Given the description of an element on the screen output the (x, y) to click on. 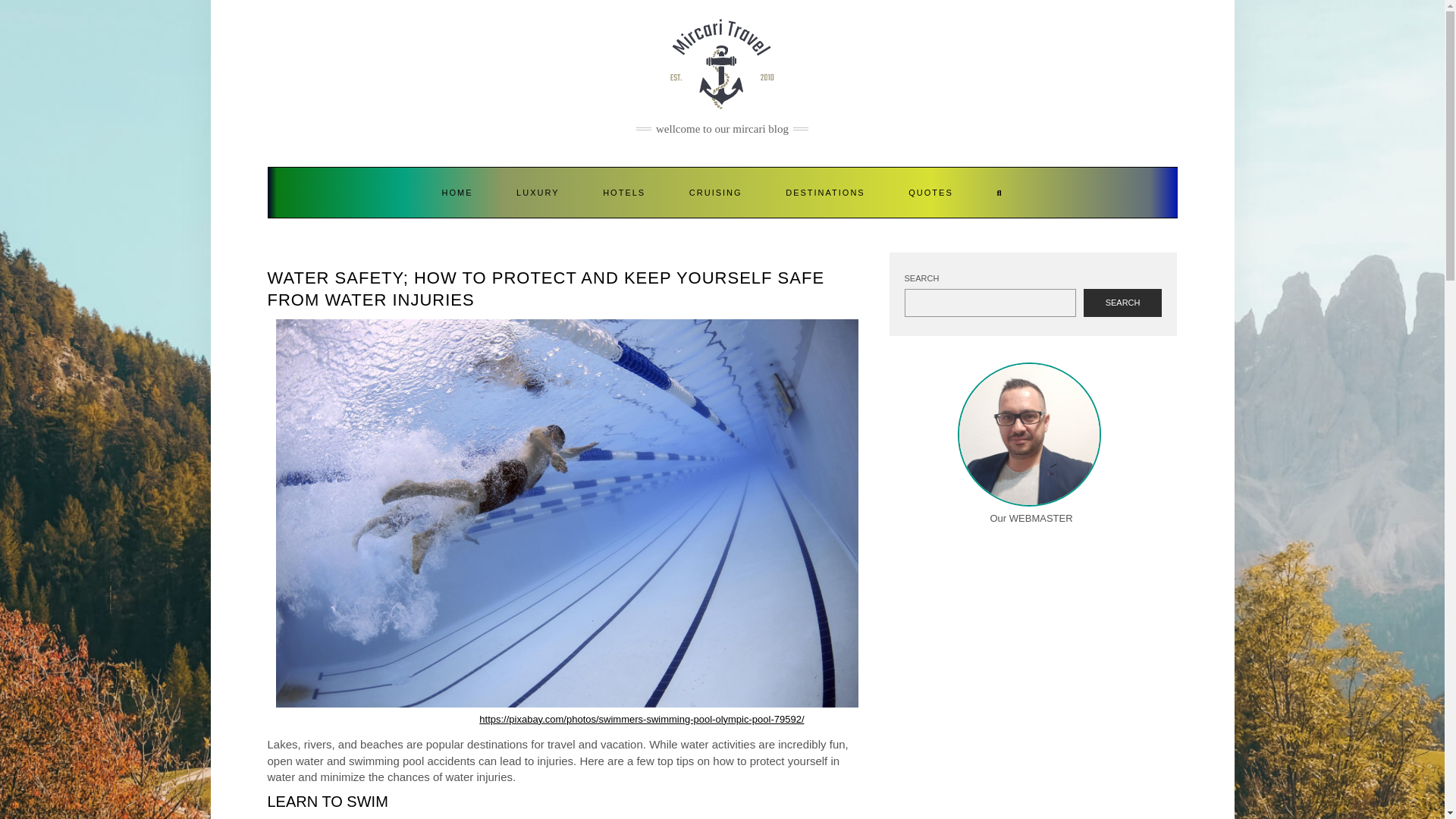
DESTINATIONS (825, 192)
HOME (456, 192)
SEARCH (1122, 303)
LUXURY (537, 192)
QUOTES (930, 192)
HOTELS (623, 192)
CRUISING (715, 192)
